Given the description of an element on the screen output the (x, y) to click on. 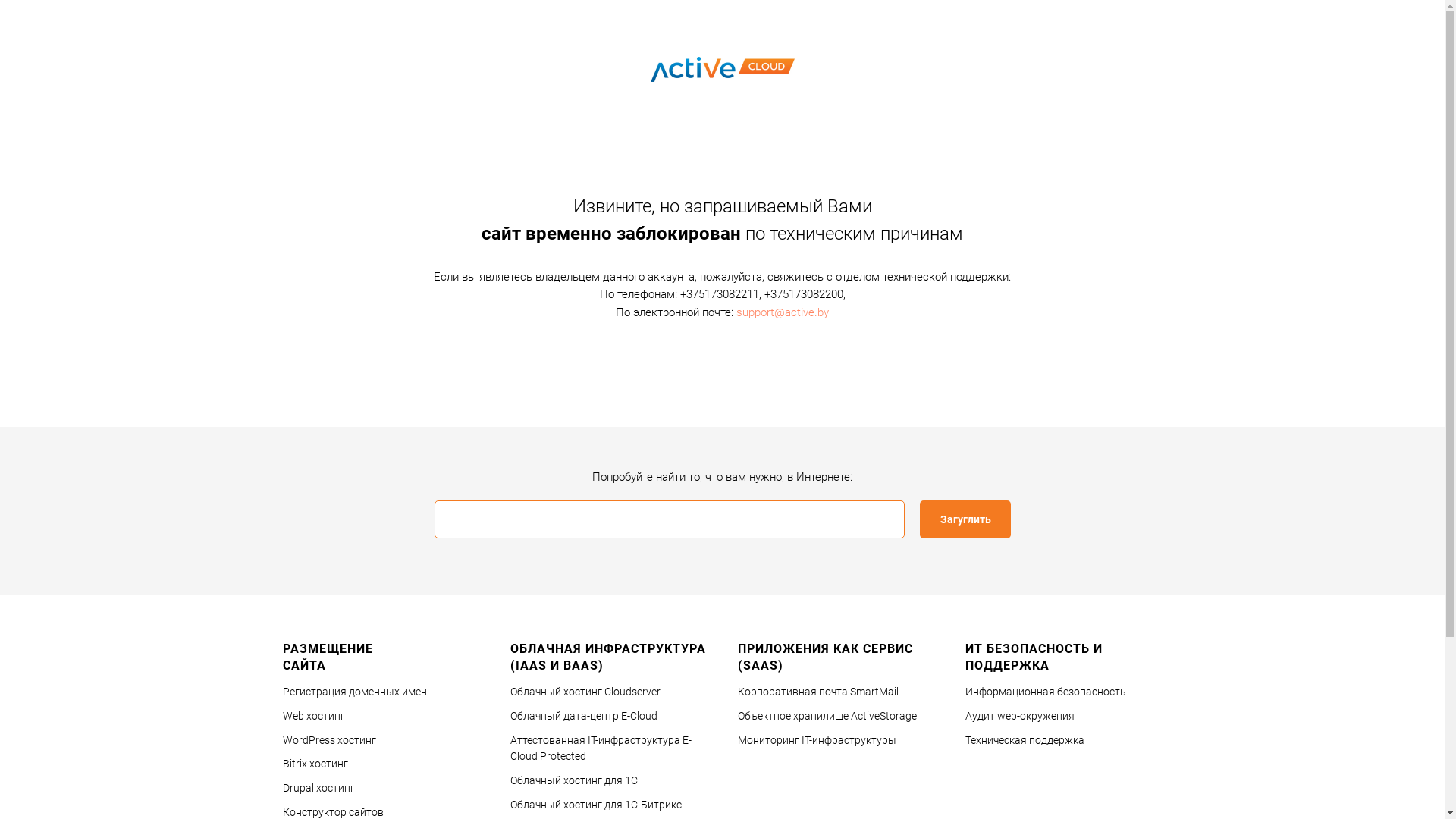
+375173082211 Element type: text (718, 294)
support@active.by Element type: text (782, 311)
+375173082200 Element type: text (803, 294)
